Given the description of an element on the screen output the (x, y) to click on. 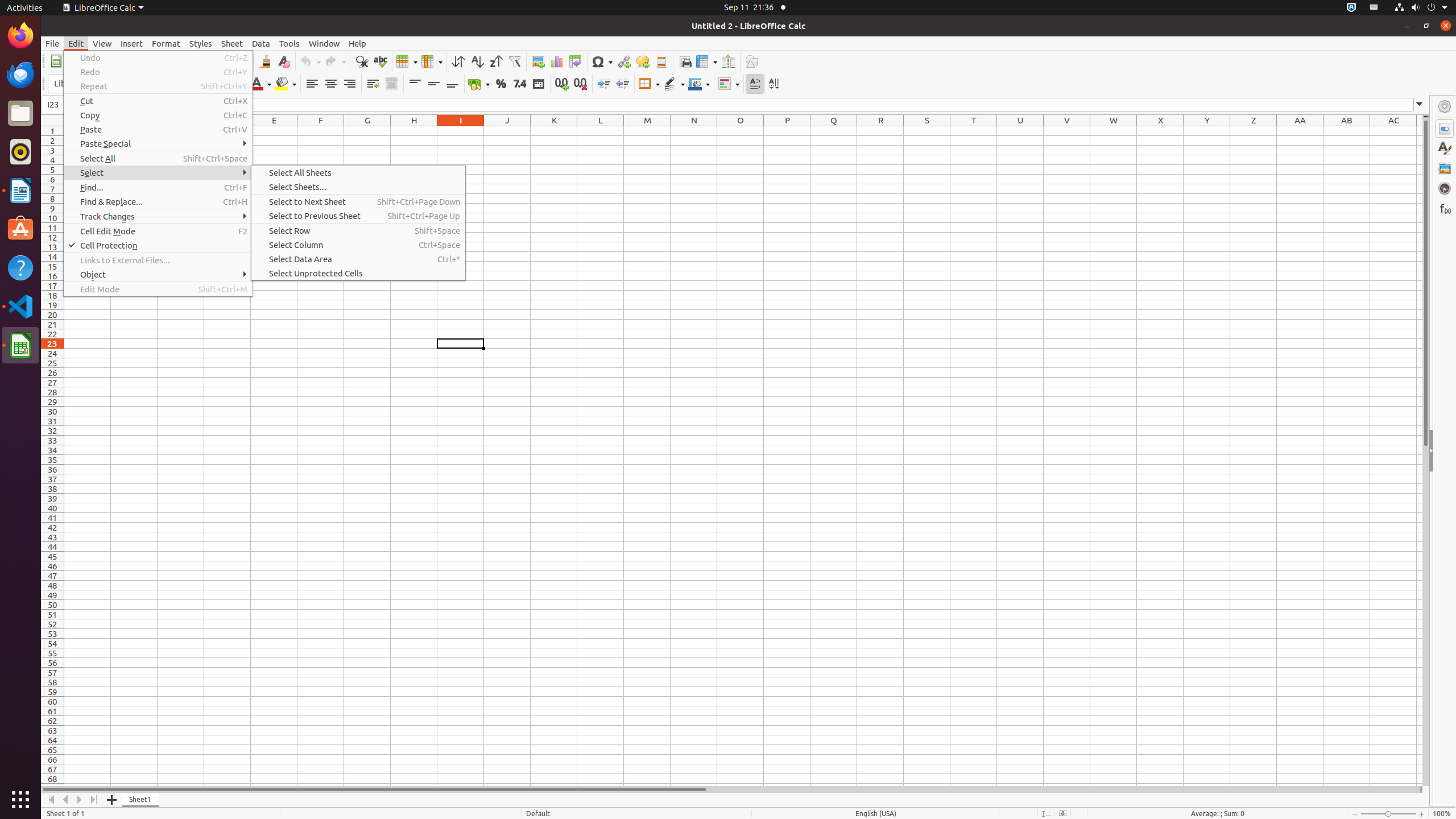
Sheet1 Element type: page-tab (140, 799)
Sort Element type: push-button (457, 61)
Column Element type: push-button (431, 61)
Align Bottom Element type: push-button (452, 83)
Comment Element type: push-button (642, 61)
